Given the description of an element on the screen output the (x, y) to click on. 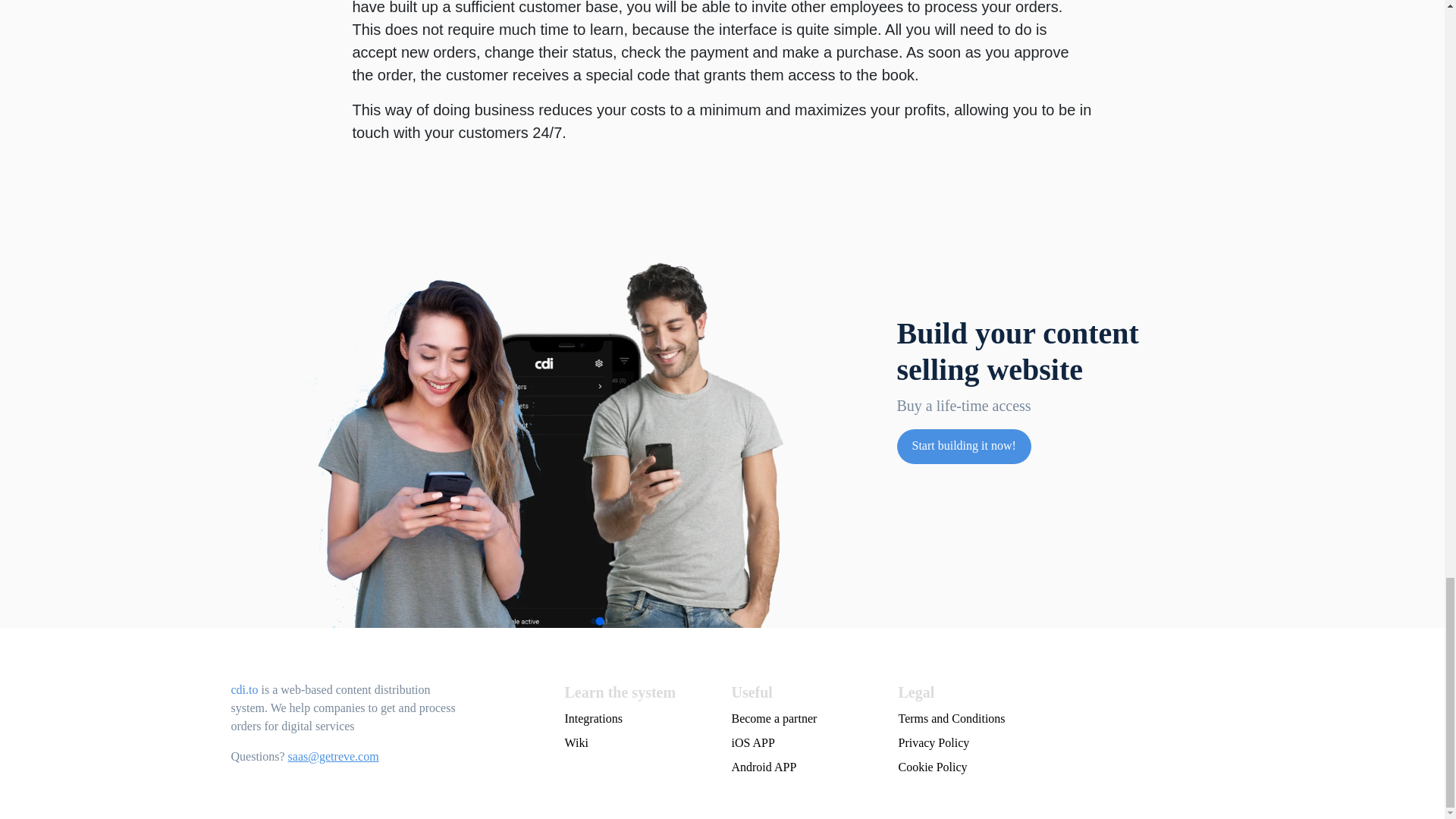
Terms and Conditions (1055, 719)
Start building it now! (963, 445)
Become a partner (804, 719)
Start building it now! (963, 446)
Cookie Policy  (1055, 767)
Wiki (638, 742)
Integrations (638, 719)
Android APP (804, 767)
Terms and Conditions (1055, 719)
Privacy Policy  (1055, 742)
iOS APP (804, 742)
